Given the description of an element on the screen output the (x, y) to click on. 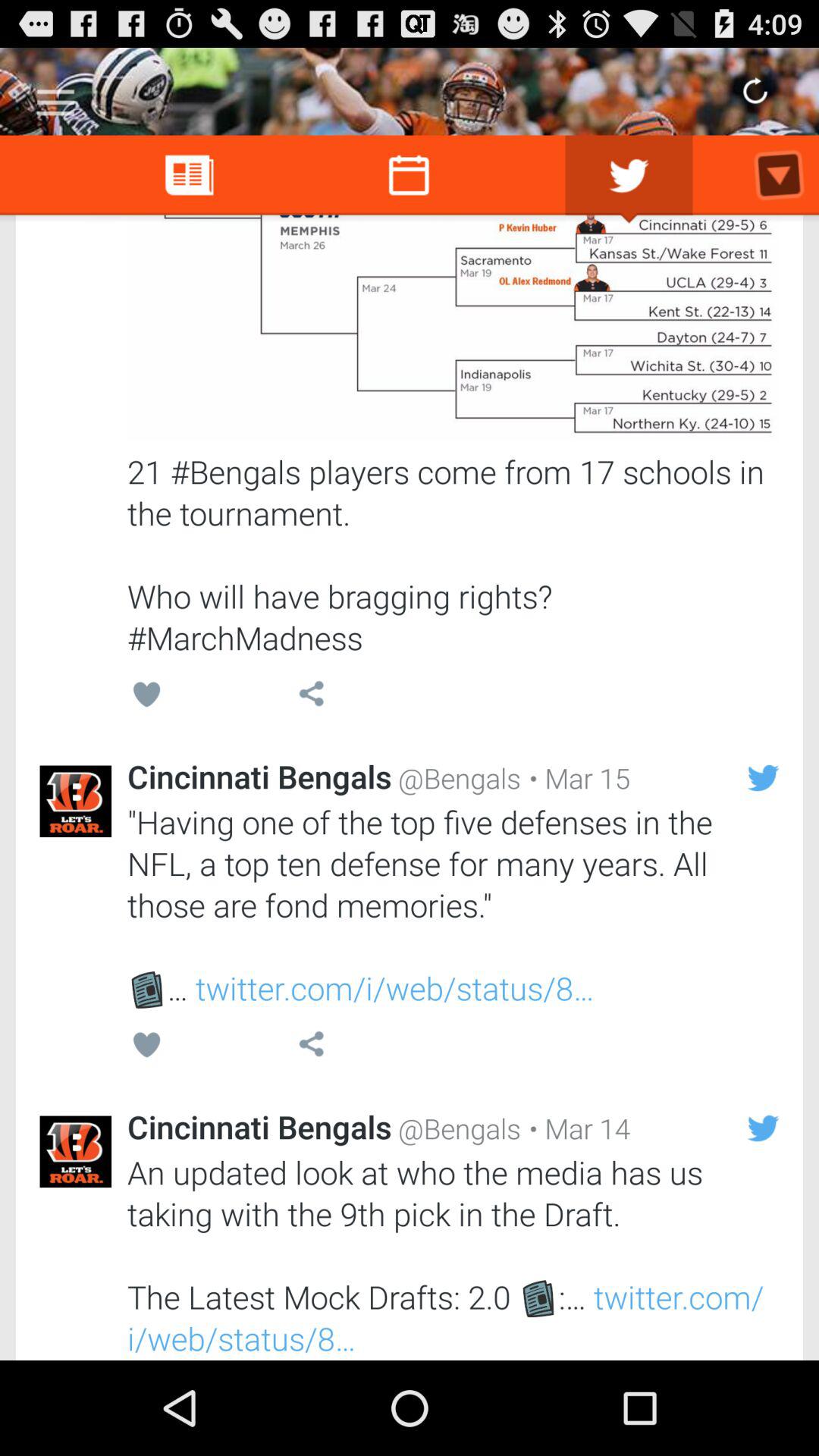
turn on item to the right of the @bengals (575, 1128)
